Given the description of an element on the screen output the (x, y) to click on. 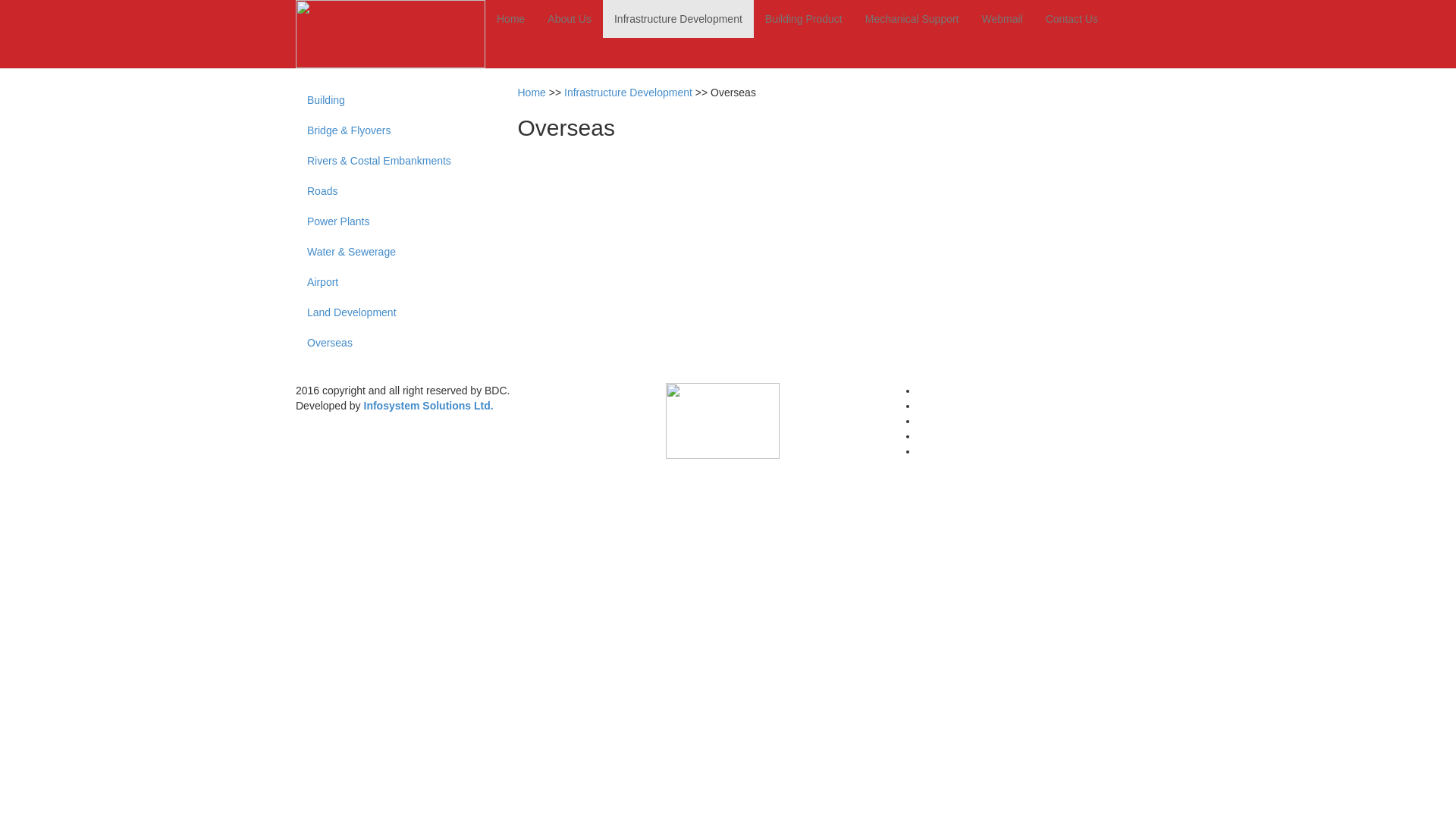
Building Product Element type: text (803, 18)
Overseas Element type: text (388, 342)
About Us Element type: text (569, 18)
Roads Element type: text (388, 190)
Power Plants Element type: text (388, 221)
Home Element type: text (510, 18)
Water & Sewerage Element type: text (388, 251)
Mechanical Support Element type: text (911, 18)
Infrastructure Development Element type: text (677, 18)
Infrastructure Development Element type: text (628, 92)
Bridge & Flyovers Element type: text (388, 130)
Land Development Element type: text (388, 312)
Contact Us Element type: text (1071, 18)
Home Element type: text (531, 92)
Airport Element type: text (388, 281)
Webmail Element type: text (1002, 18)
Rivers & Costal Embankments Element type: text (388, 160)
Infosystem Solutions Ltd. Element type: text (428, 405)
Building Element type: text (388, 99)
